Given the description of an element on the screen output the (x, y) to click on. 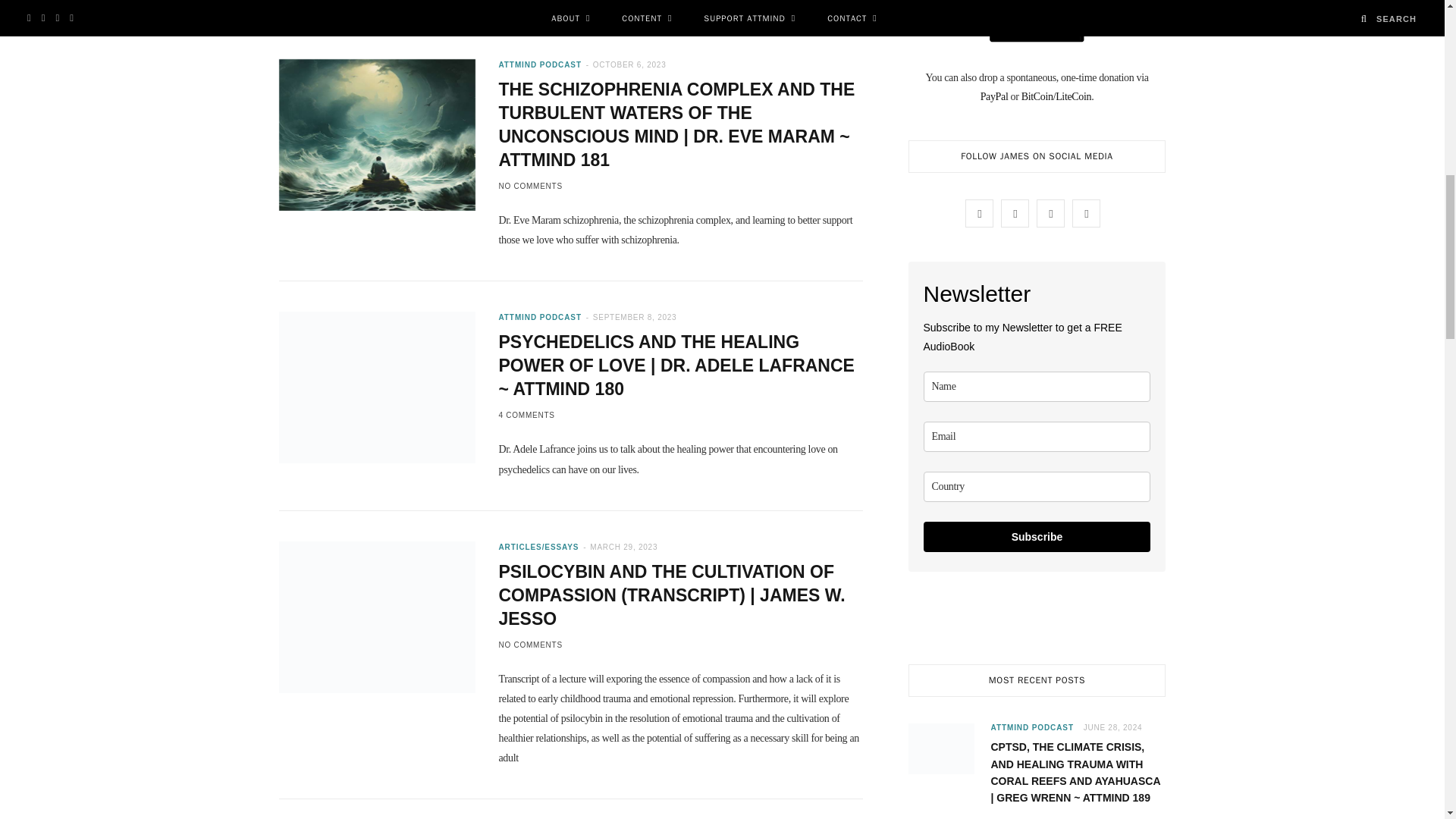
OCTOBER 6, 2023 (629, 64)
ATTMIND PODCAST (538, 64)
NO COMMENTS (529, 185)
